Given the description of an element on the screen output the (x, y) to click on. 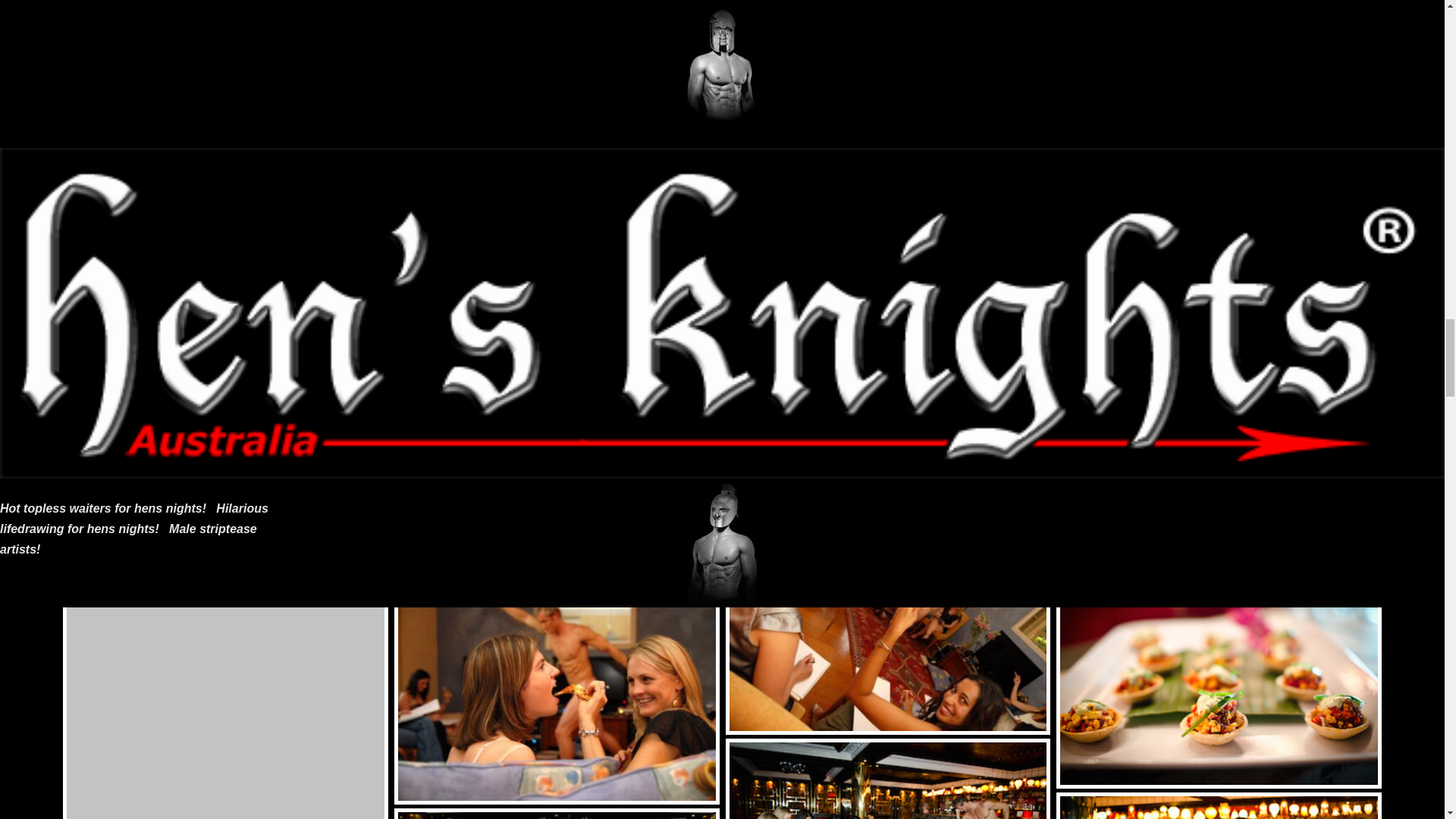
Live Art Pencil Sketches of Nude Male (225, 680)
